Given the description of an element on the screen output the (x, y) to click on. 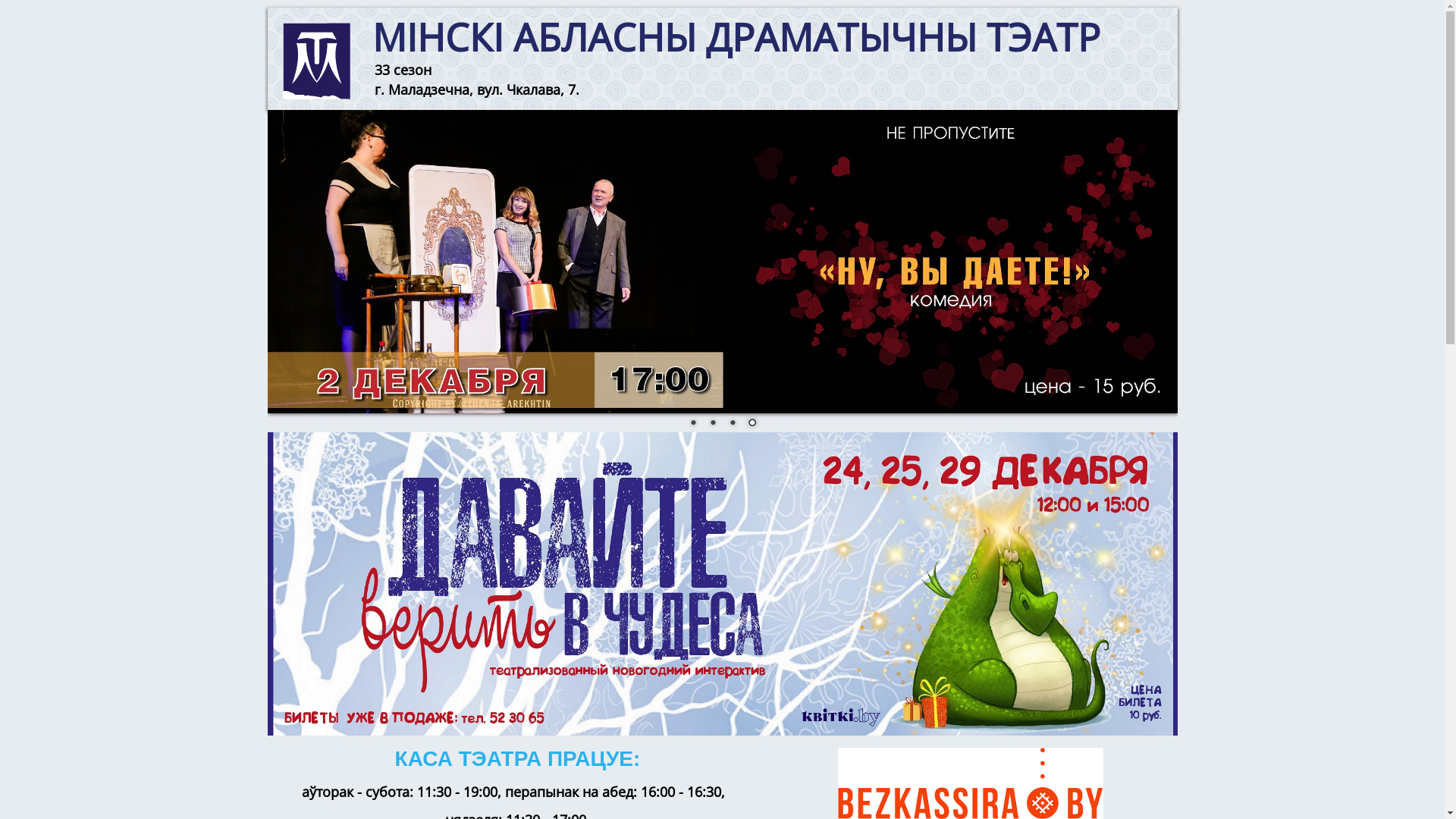
2 Element type: text (711, 423)
1 Element type: text (692, 423)
3 Element type: text (731, 423)
4 Element type: text (751, 423)
